Given the description of an element on the screen output the (x, y) to click on. 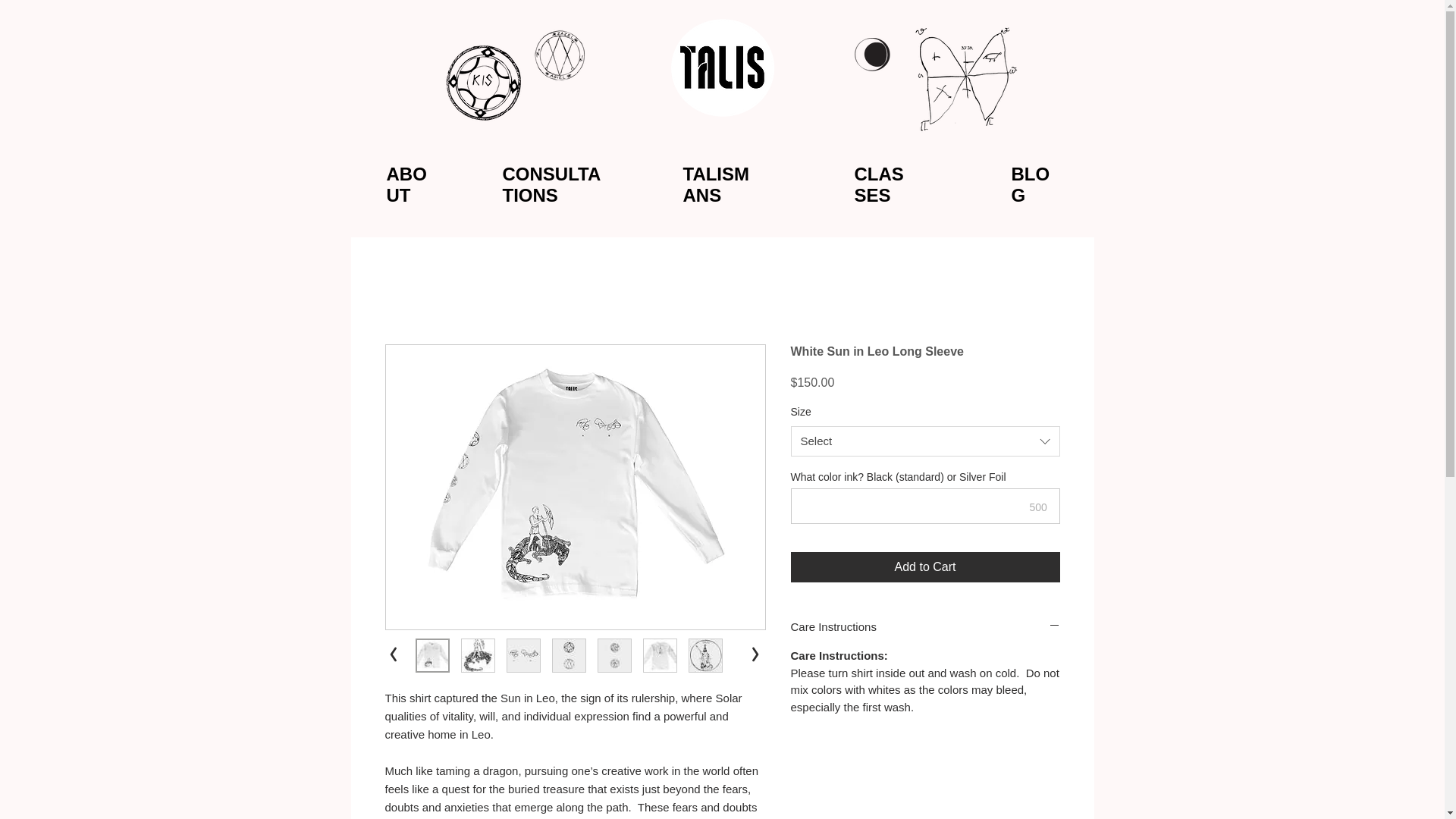
TALISMANS (715, 184)
Select (924, 440)
ABOUT (406, 184)
CONSULTATIONS (550, 184)
CLASSES (877, 184)
BLOG (1030, 184)
Add to Cart (924, 567)
Care Instructions (924, 626)
